Given the description of an element on the screen output the (x, y) to click on. 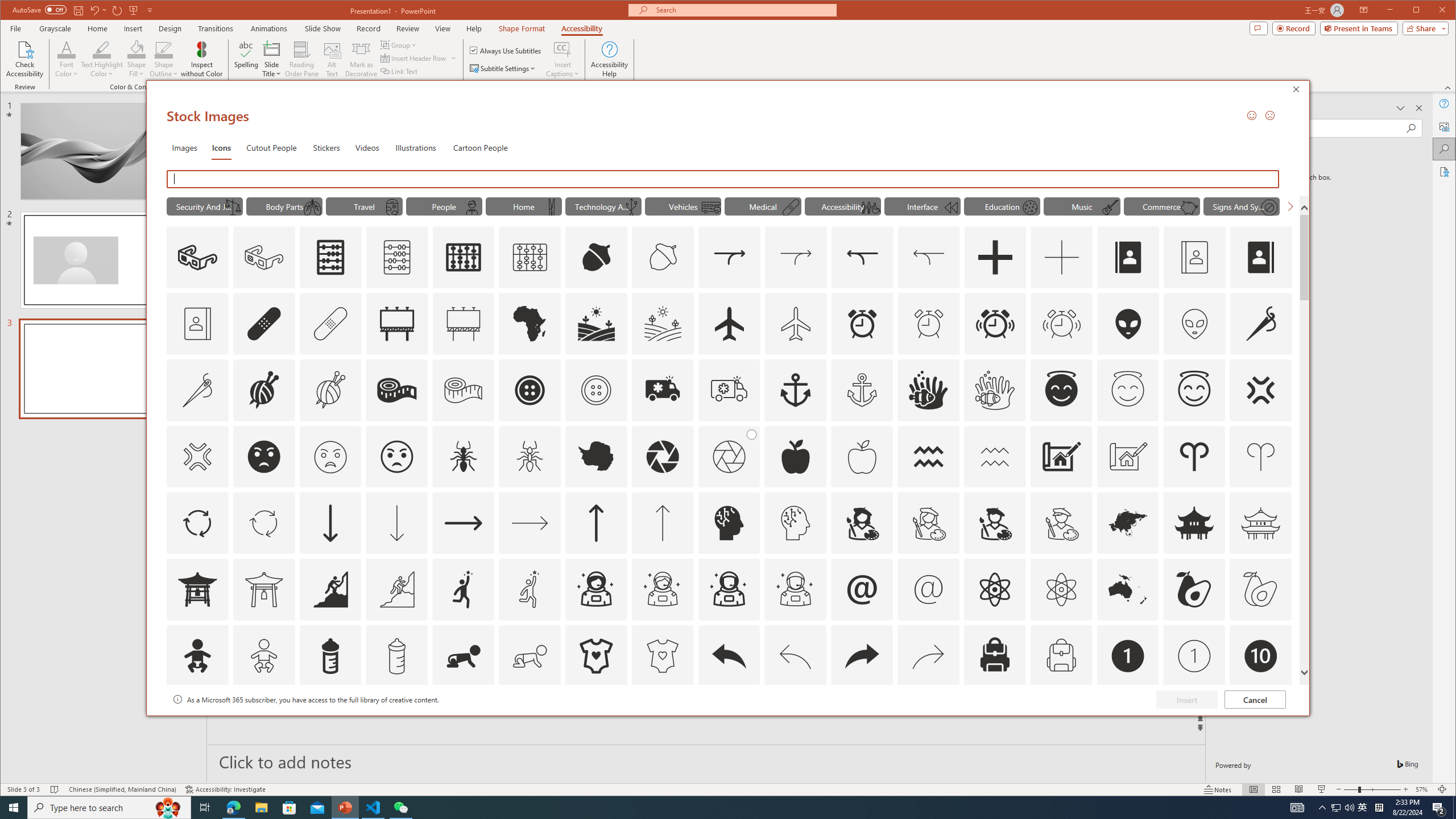
AutomationID: Icons_AlterationsTailoring_M (197, 389)
AutomationID: Icons_Agriculture (596, 323)
AutomationID: Icons_AddressBook_RTL_M (197, 323)
AutomationID: Icons_Africa (529, 323)
AutomationID: Icons_BabyBottle_M (397, 655)
Class: MsoCommandBar (728, 789)
AutomationID: Icons_ArtistMale (994, 522)
Next Search Suggestion (1290, 206)
Search highlights icon opens search home window (167, 807)
